Given the description of an element on the screen output the (x, y) to click on. 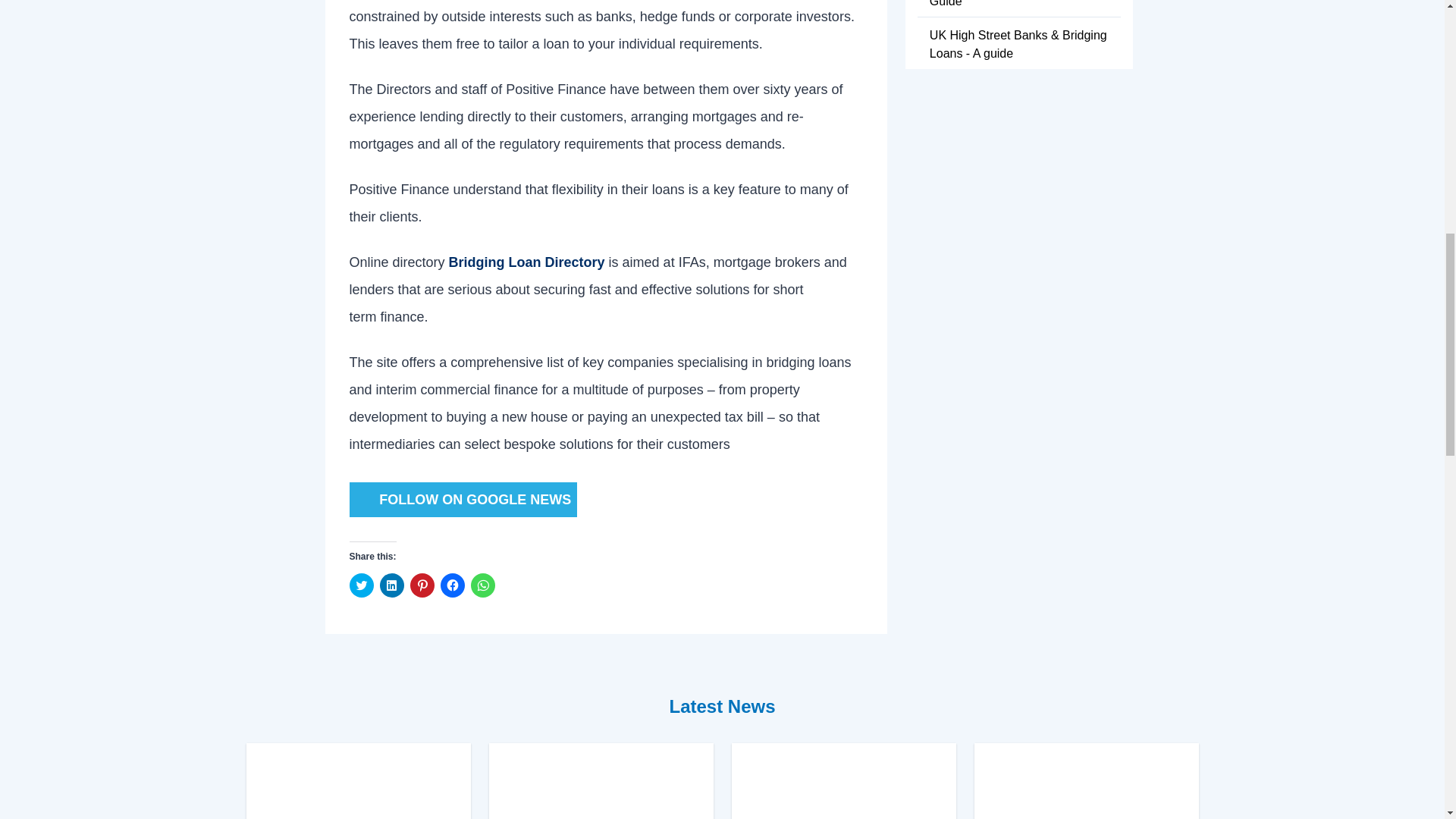
Click to share on WhatsApp (482, 585)
Click to share on Facebook (451, 585)
Click to share on Twitter (360, 585)
Click to share on LinkedIn (390, 585)
Click to share on Pinterest (421, 585)
